Given the description of an element on the screen output the (x, y) to click on. 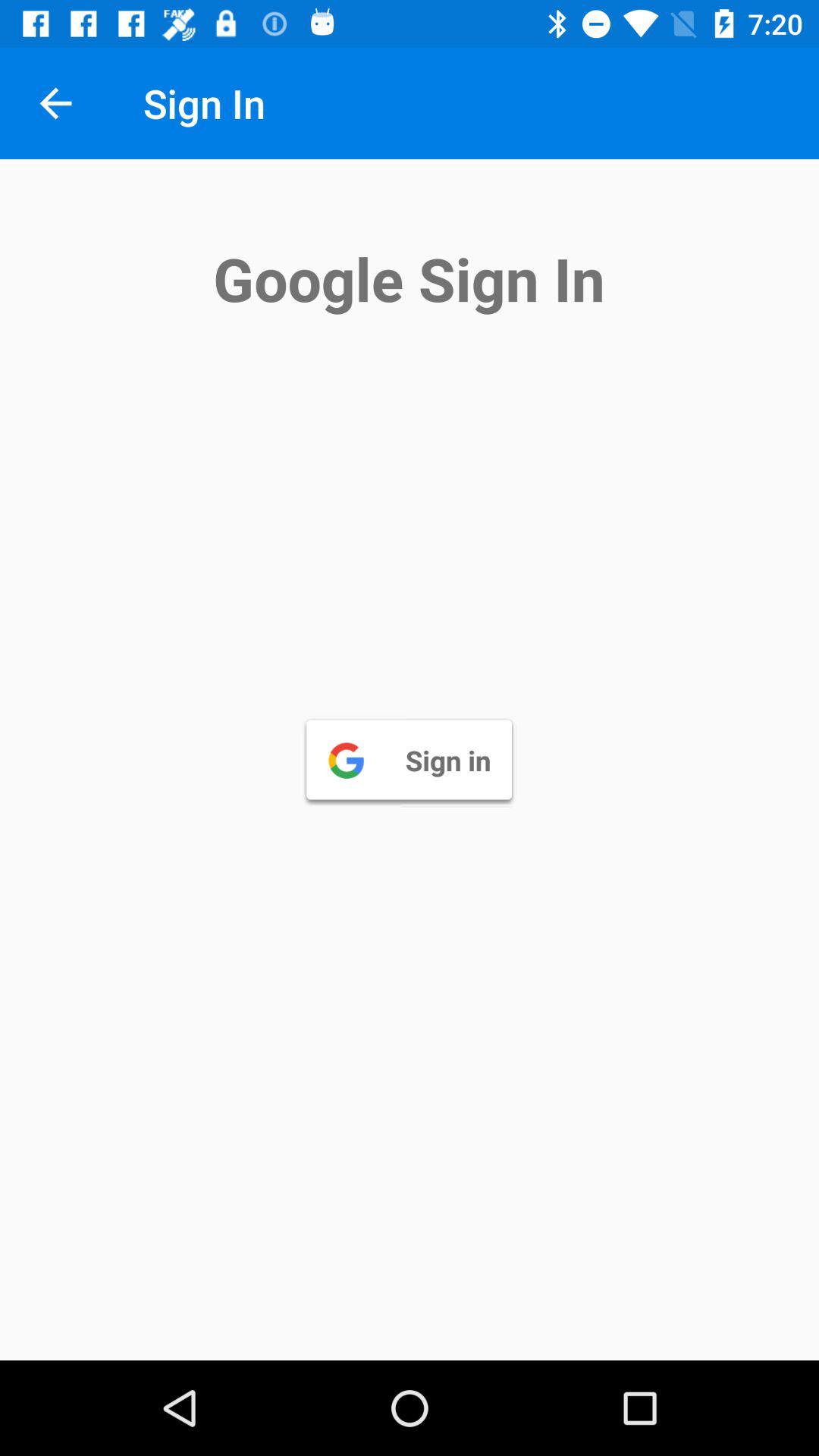
click icon next to sign in item (55, 103)
